Given the description of an element on the screen output the (x, y) to click on. 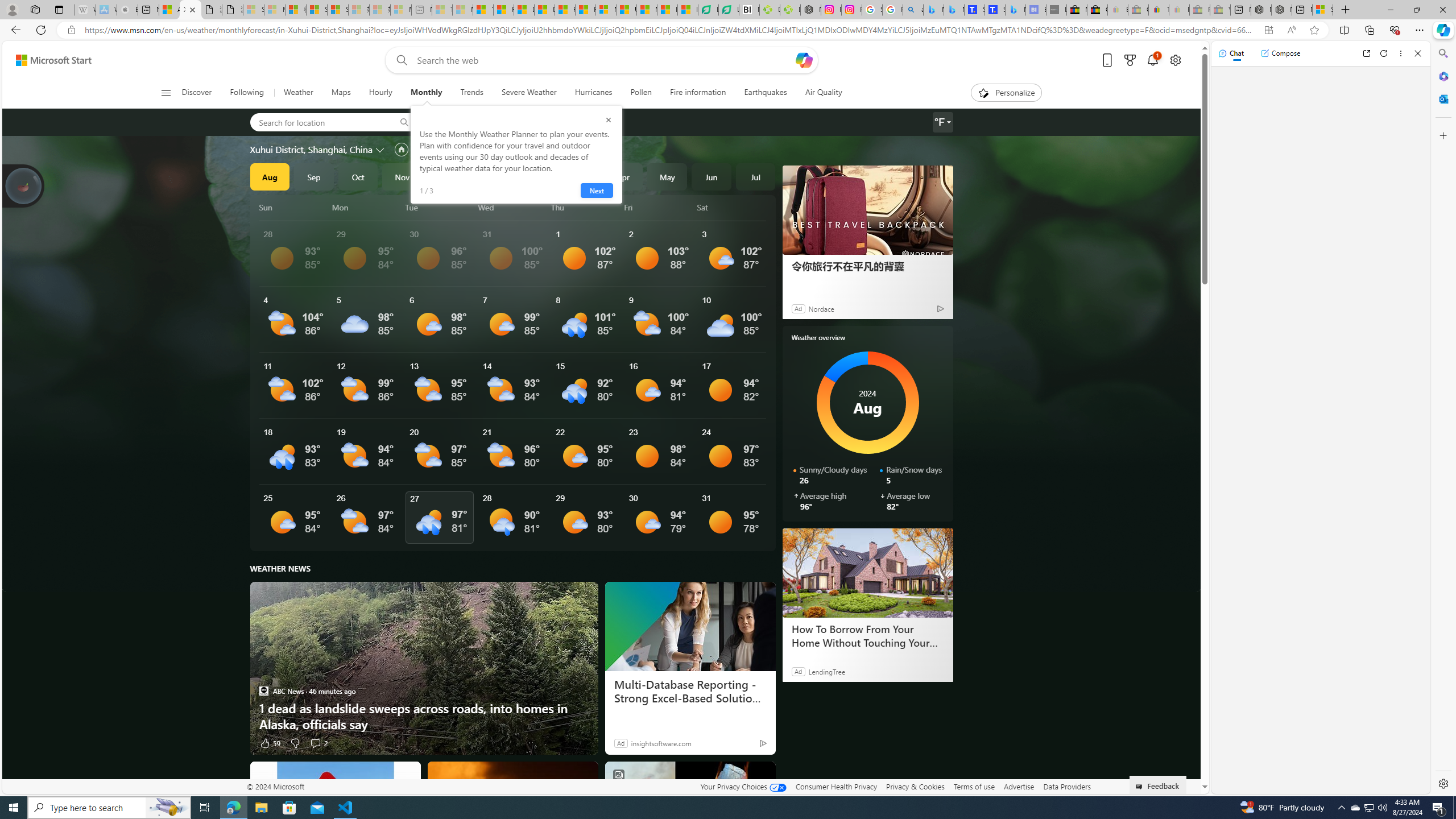
Nov (401, 176)
Class: feedback_link_icon-DS-EntryPoint1-1 (1140, 786)
Jul (755, 176)
Maps (340, 92)
Air Quality (824, 92)
